Given the description of an element on the screen output the (x, y) to click on. 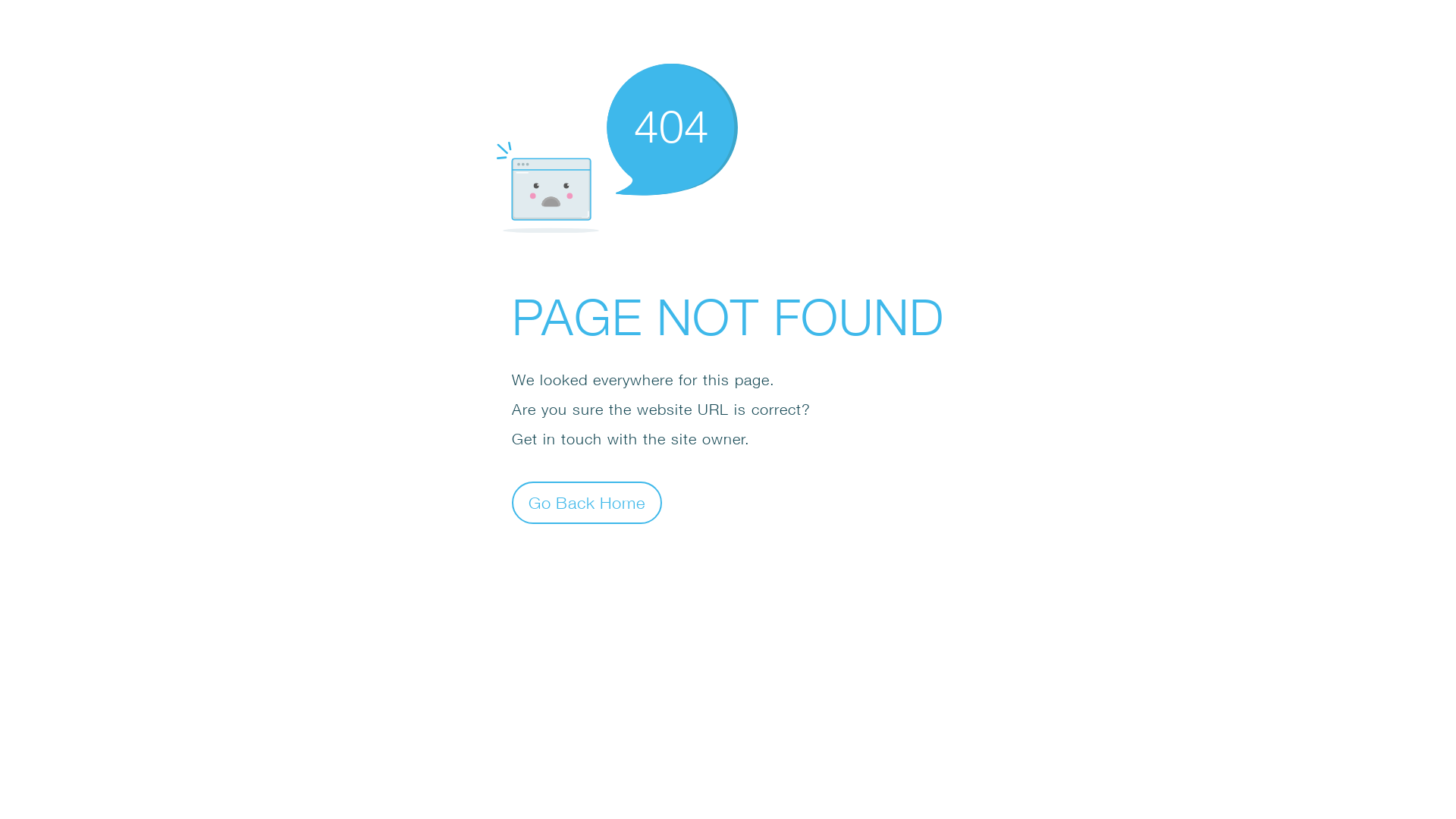
Go Back Home Element type: text (586, 502)
